Given the description of an element on the screen output the (x, y) to click on. 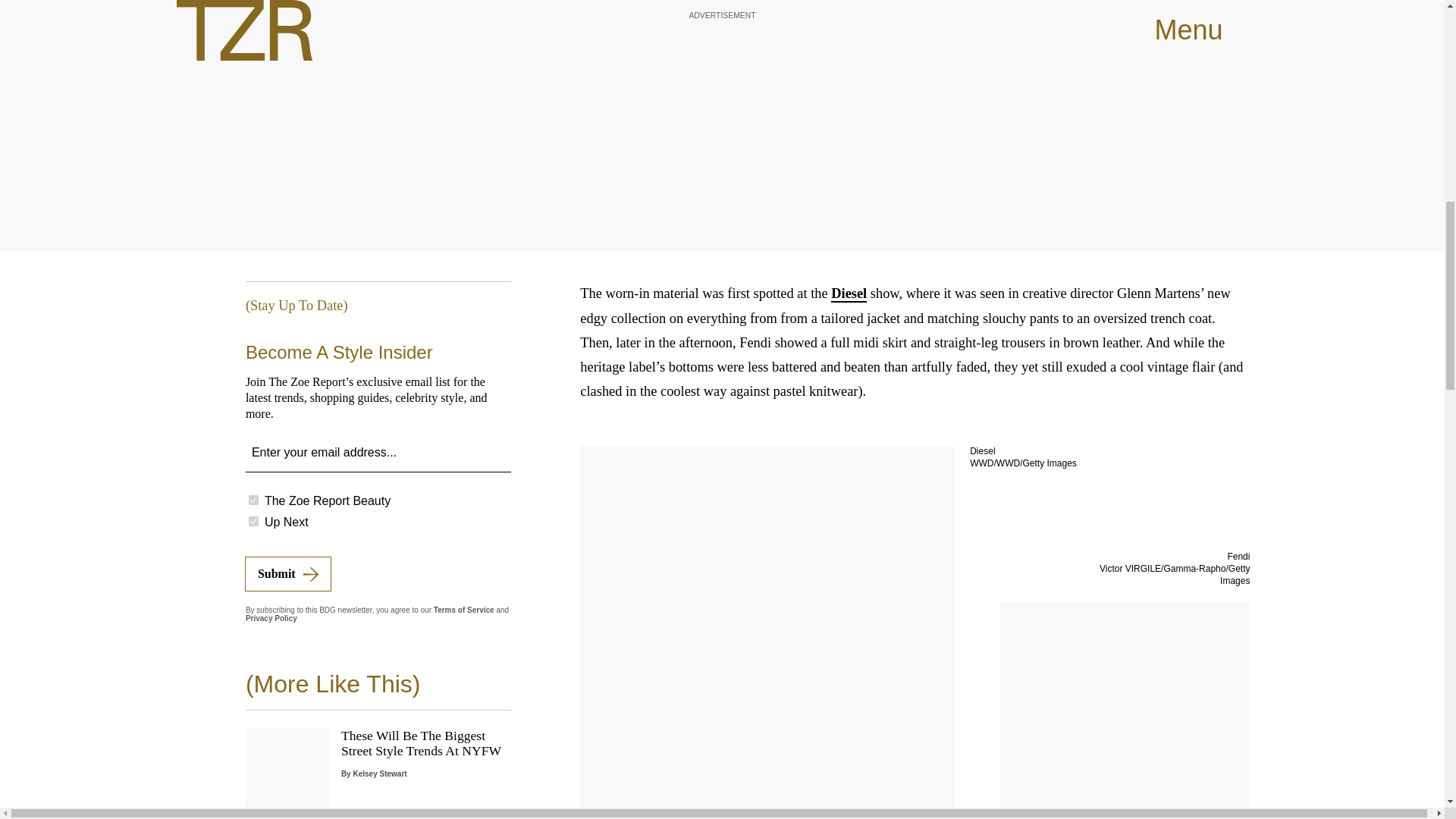
Submit (288, 573)
Diesel (848, 293)
Terms of Service (464, 610)
Privacy Policy (271, 618)
